Given the description of an element on the screen output the (x, y) to click on. 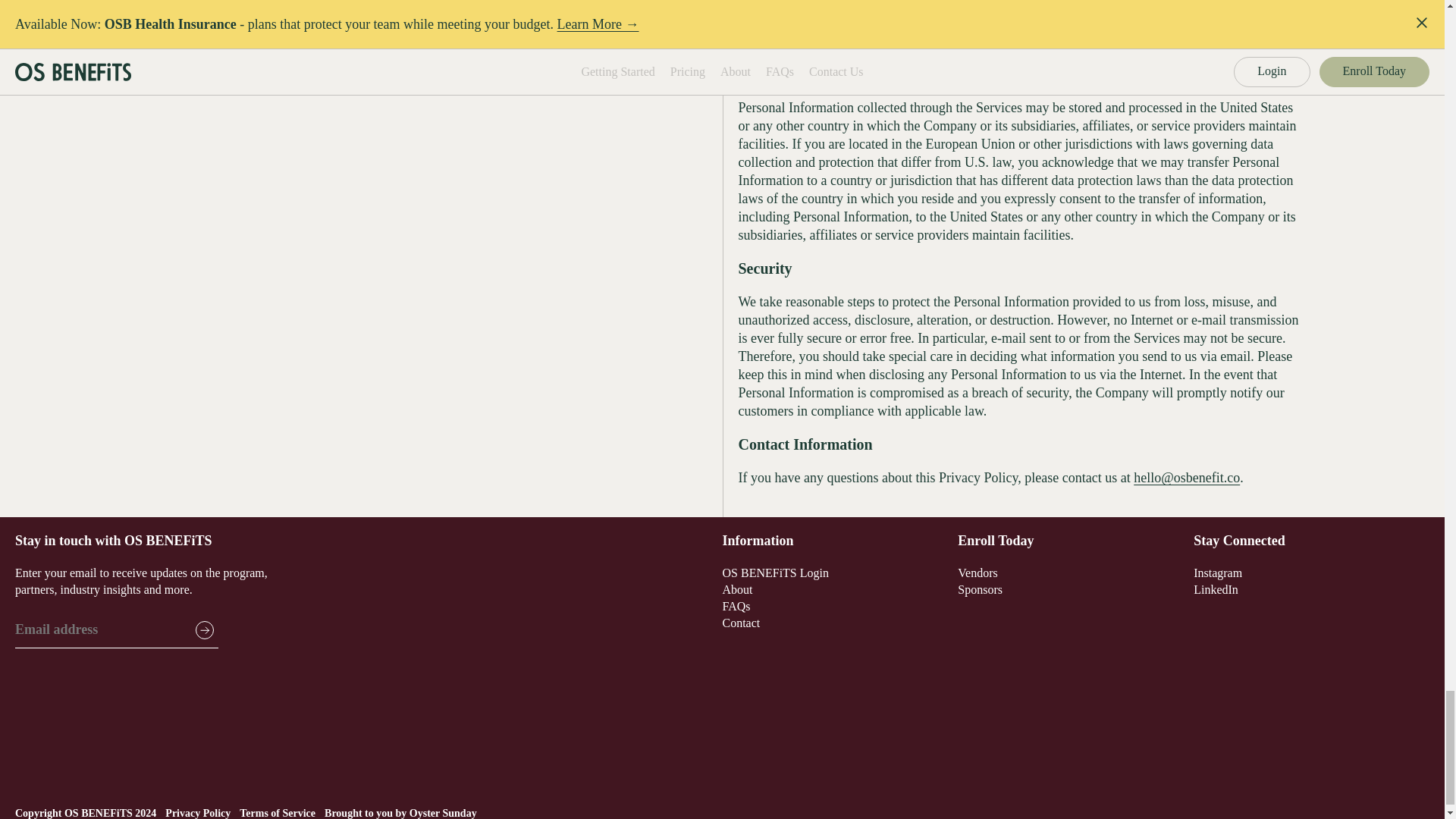
About (737, 589)
OS BENEFiTS Login (775, 572)
Vendors (977, 572)
Instagram (1217, 572)
OS BENEFiTS (98, 813)
Privacy Policy (197, 813)
FAQs (735, 605)
Sponsors (980, 589)
Terms of Service (277, 813)
Contact (741, 622)
